Given the description of an element on the screen output the (x, y) to click on. 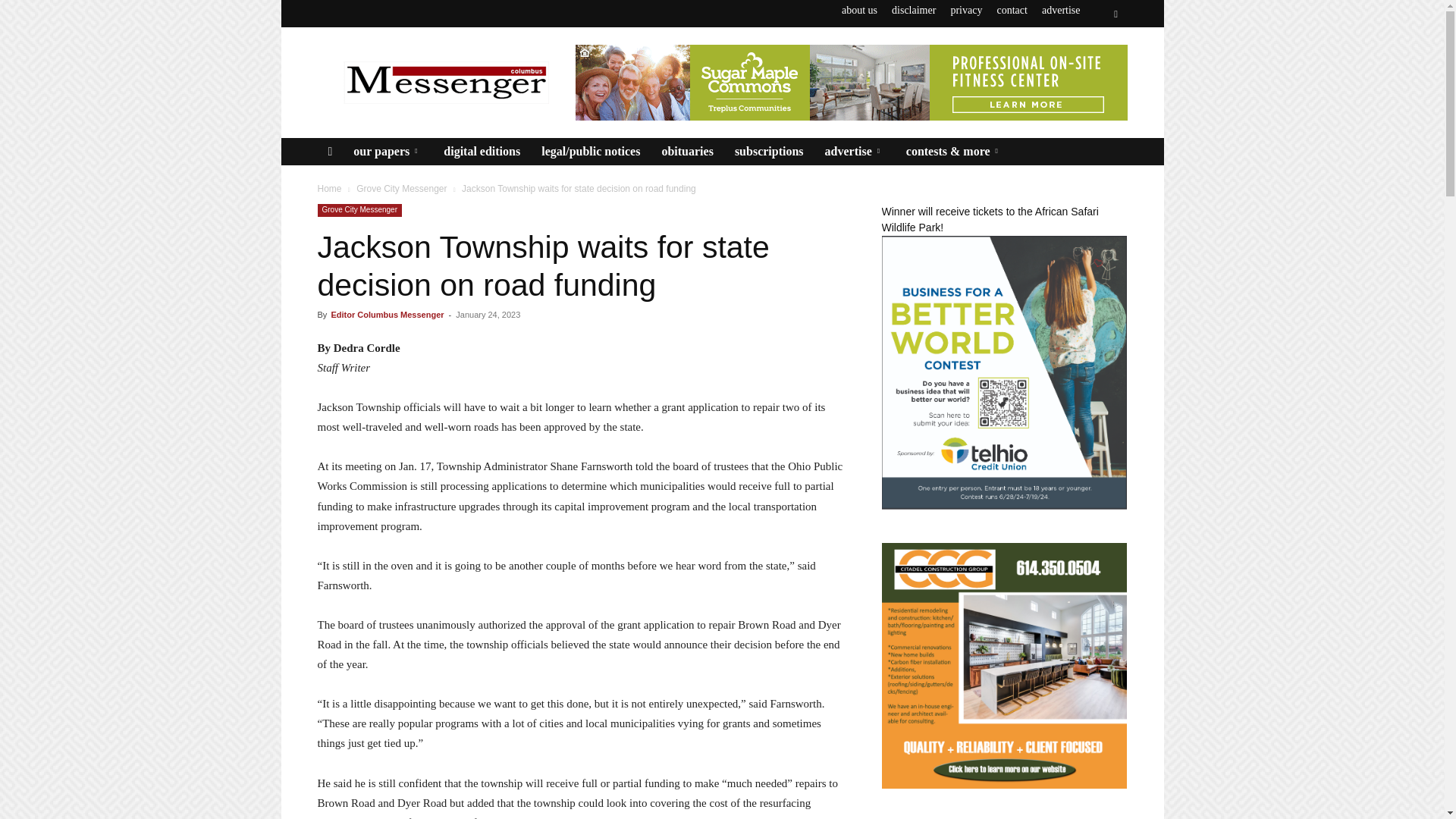
disclaimer (913, 9)
our papers (387, 151)
Columbus Messenger - Ohios Newspaper (445, 82)
advertise (1061, 9)
contact (1010, 9)
Search (1085, 70)
privacy (965, 9)
about us (859, 9)
View all posts in Grove City Messenger (401, 188)
